Given the description of an element on the screen output the (x, y) to click on. 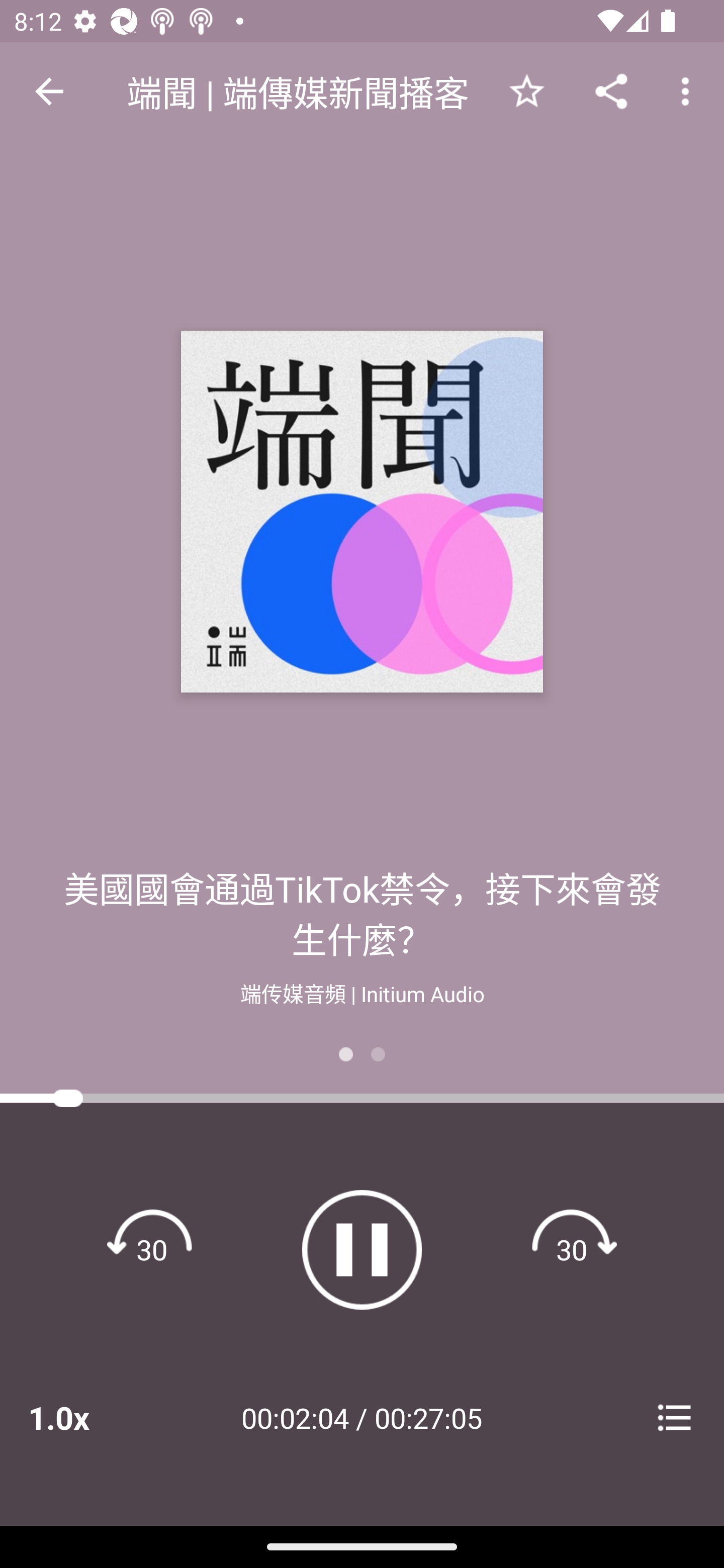
Navigate up (49, 91)
Add to Favorites (526, 90)
Share... (611, 90)
More options (688, 90)
端传媒音頻 | Initium Audio (361, 992)
Pause (361, 1249)
Rewind (151, 1249)
Fast forward (571, 1249)
1.0x Playback Speeds (84, 1417)
00:27:05 (428, 1417)
